Given the description of an element on the screen output the (x, y) to click on. 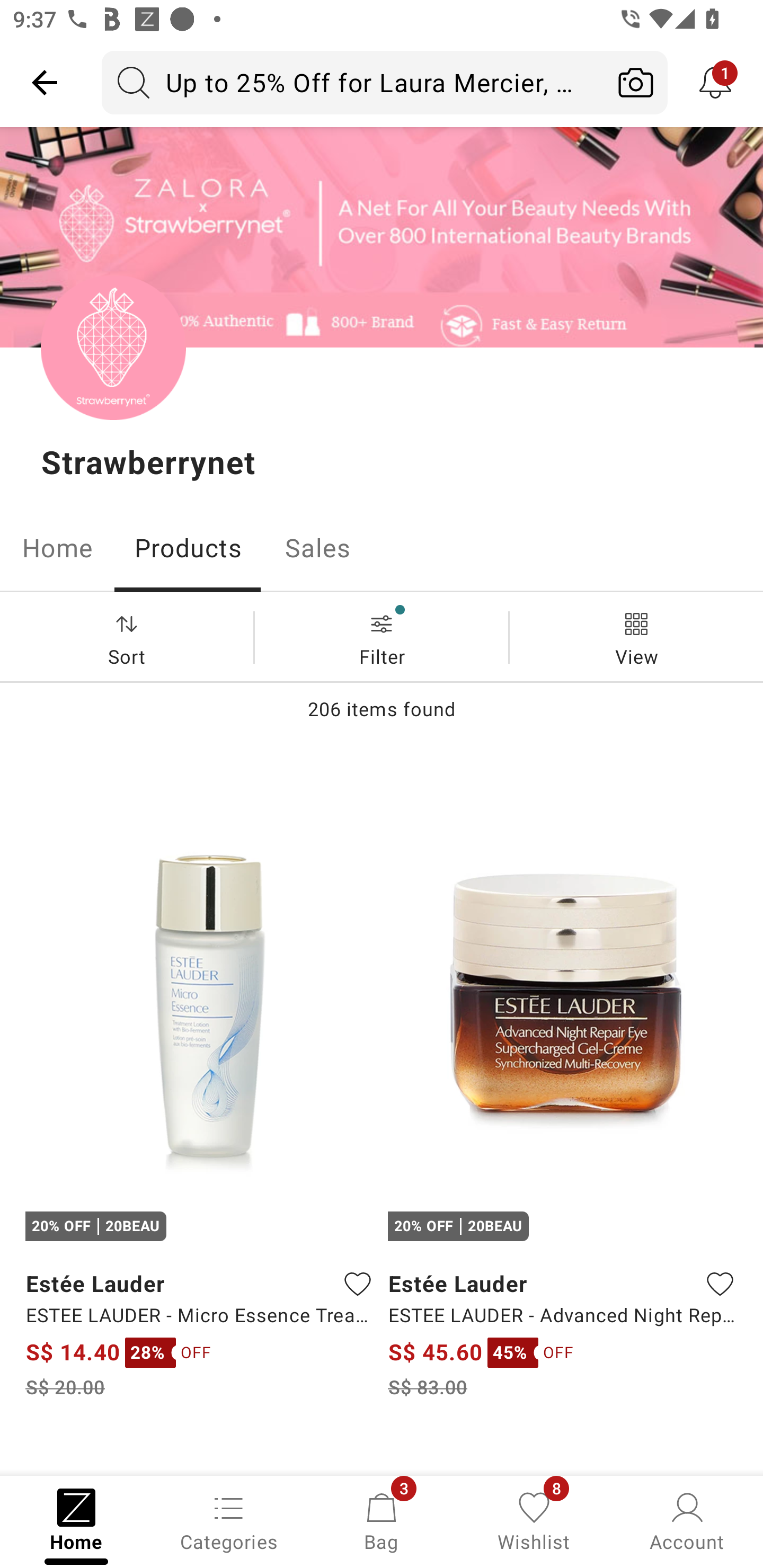
Navigate up (44, 82)
Home (57, 547)
Sales (317, 547)
Categories (228, 1519)
Bag, 3 new notifications Bag (381, 1519)
Wishlist, 8 new notifications Wishlist (533, 1519)
Account (686, 1519)
